Given the description of an element on the screen output the (x, y) to click on. 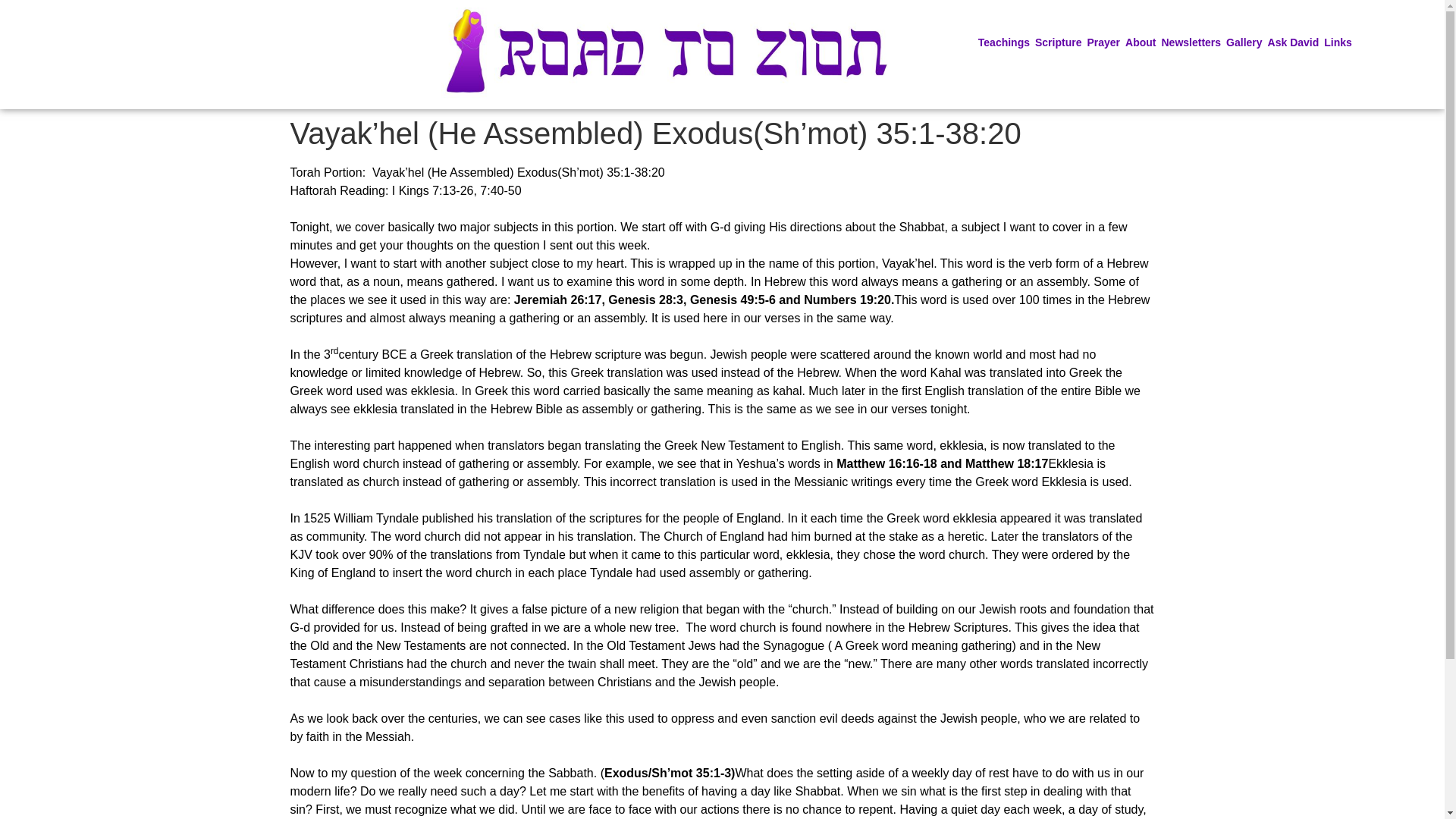
Gallery (1245, 42)
About (1142, 42)
Newsletters (1194, 42)
Ask David (1296, 42)
Teachings (1006, 42)
Prayer (1105, 42)
Scripture (1060, 42)
